Given the description of an element on the screen output the (x, y) to click on. 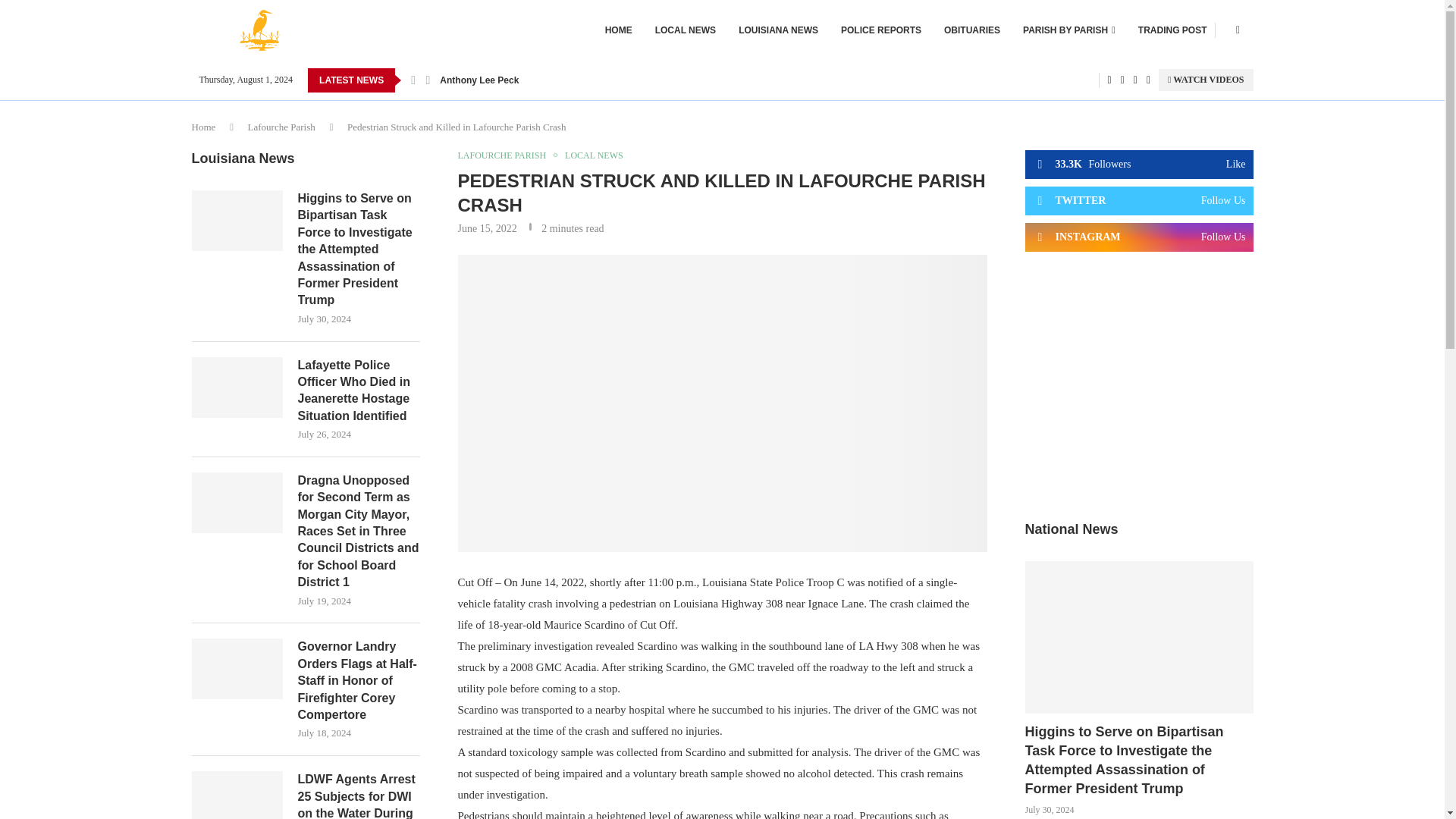
OBITUARIES (971, 30)
PARISH BY PARISH (1069, 30)
POLICE REPORTS (881, 30)
LOCAL NEWS (685, 30)
Anthony Lee Peck (478, 79)
TRADING POST (1172, 30)
LOUISIANA NEWS (778, 30)
